Given the description of an element on the screen output the (x, y) to click on. 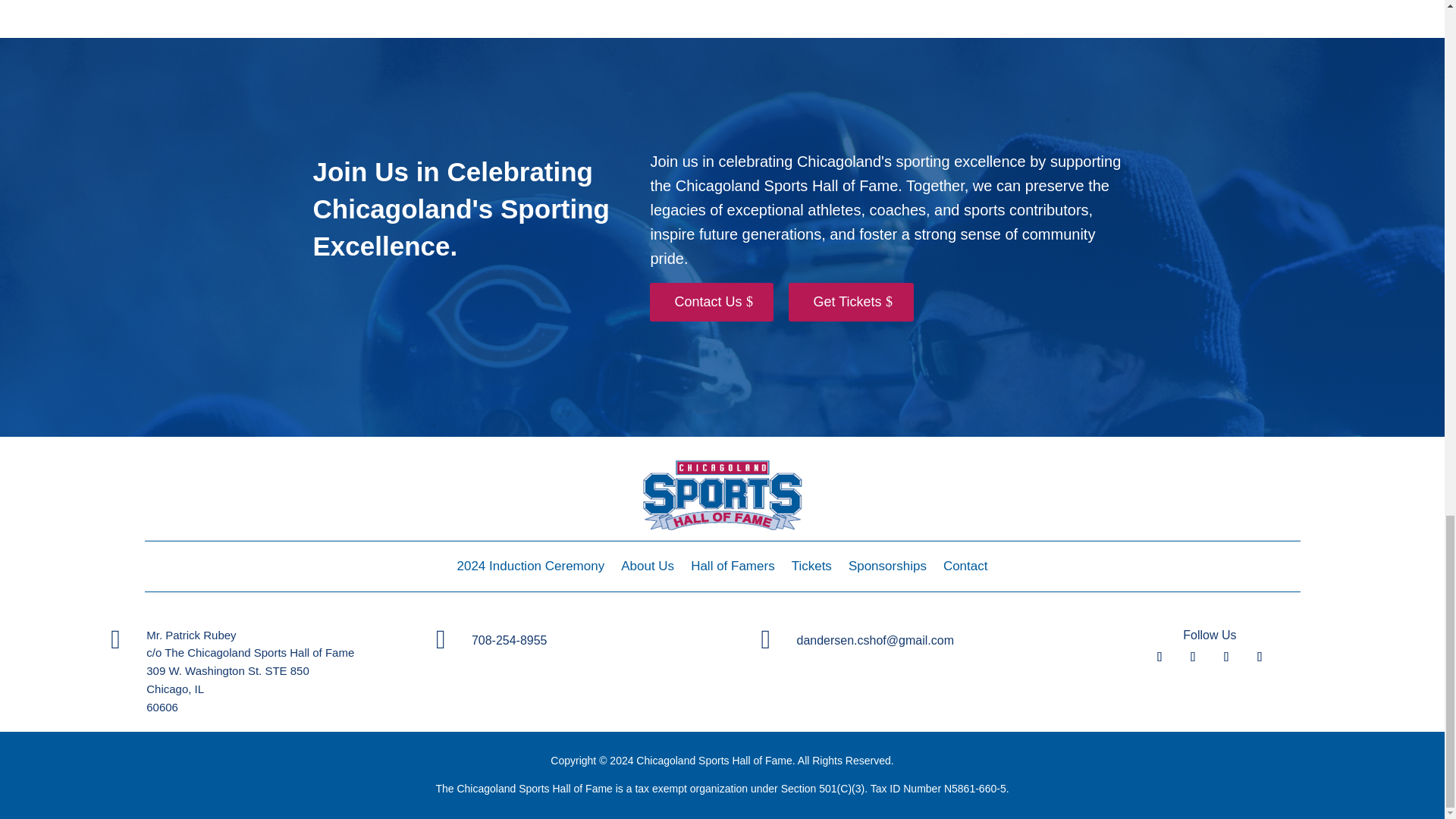
309 W. Washington St. STE 850 (227, 670)
Contact Us (711, 301)
708-254-8955 (509, 640)
About Us (647, 569)
Follow on Instagram (1226, 656)
Follow on Facebook (1159, 656)
Follow on LinkedIn (1259, 656)
Get Tickets (850, 301)
2024 Induction Ceremony (530, 569)
Sponsorships (887, 569)
Follow on Youtube (1193, 656)
Chicago, IL (175, 688)
Contact (965, 569)
Tickets (811, 569)
60606 (162, 707)
